Given the description of an element on the screen output the (x, y) to click on. 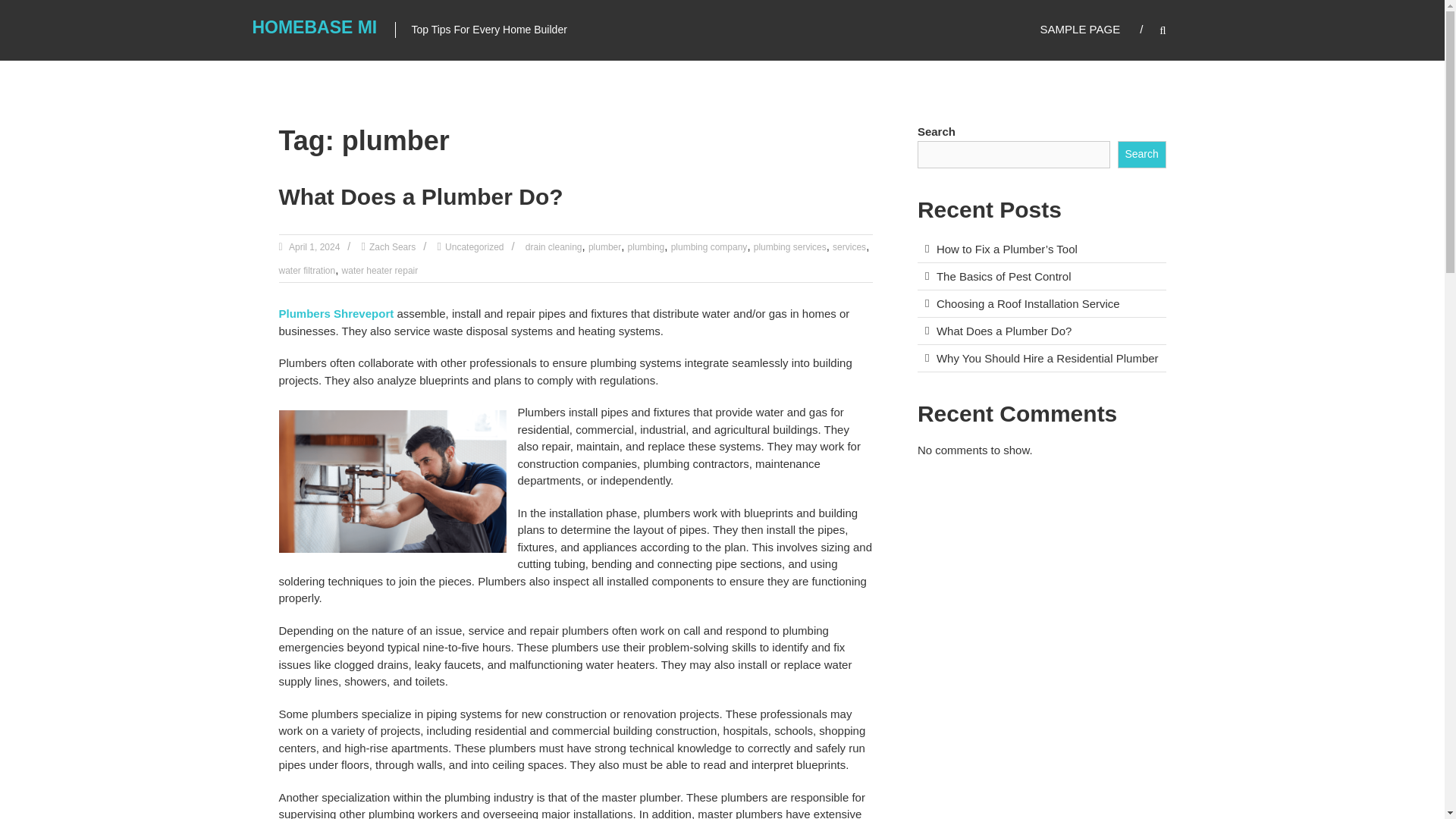
services (849, 246)
Why You Should Hire a Residential Plumber (1047, 358)
HOMEBASE MI (314, 26)
Homebase MI (314, 26)
plumbing (646, 246)
Search (1232, 409)
The Basics of Pest Control (1003, 276)
plumbing services (790, 246)
SAMPLE PAGE (1081, 29)
Zach Sears (391, 246)
water heater repair (380, 270)
Zach Sears (391, 246)
Uncategorized (474, 246)
plumber (604, 246)
April 1, 2024 (313, 246)
